Given the description of an element on the screen output the (x, y) to click on. 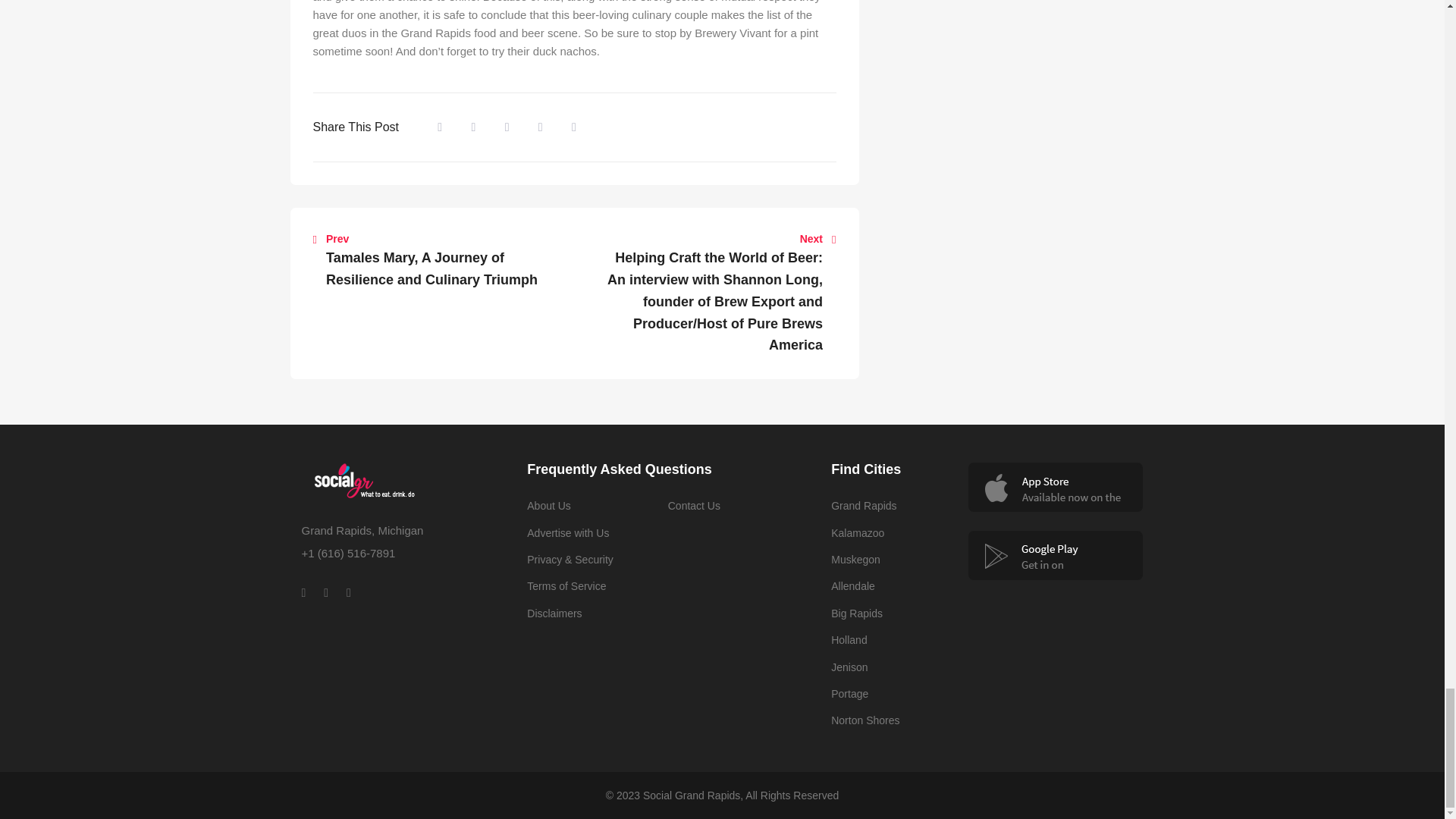
Share on LinkedIn (507, 127)
Share on Google plus (540, 127)
Share on Pinterest (574, 127)
Share on facebook (439, 127)
Share on Twitter (472, 127)
